Given the description of an element on the screen output the (x, y) to click on. 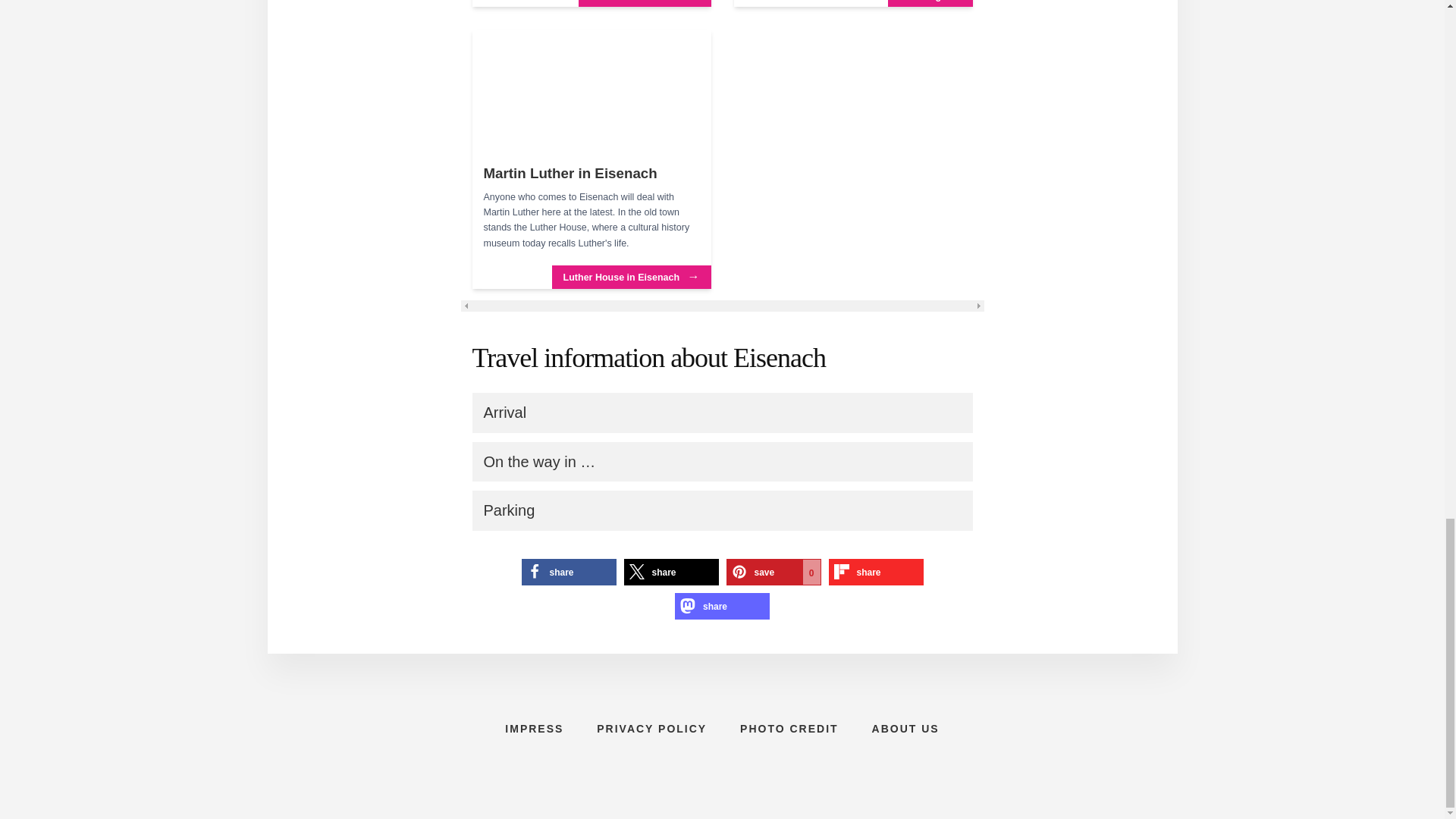
Share on Mastodon (722, 605)
Share on Facebook (568, 571)
Share on X (670, 571)
Share on Flipboard (875, 571)
Pin it on Pinterest (773, 571)
share  (568, 571)
